Given the description of an element on the screen output the (x, y) to click on. 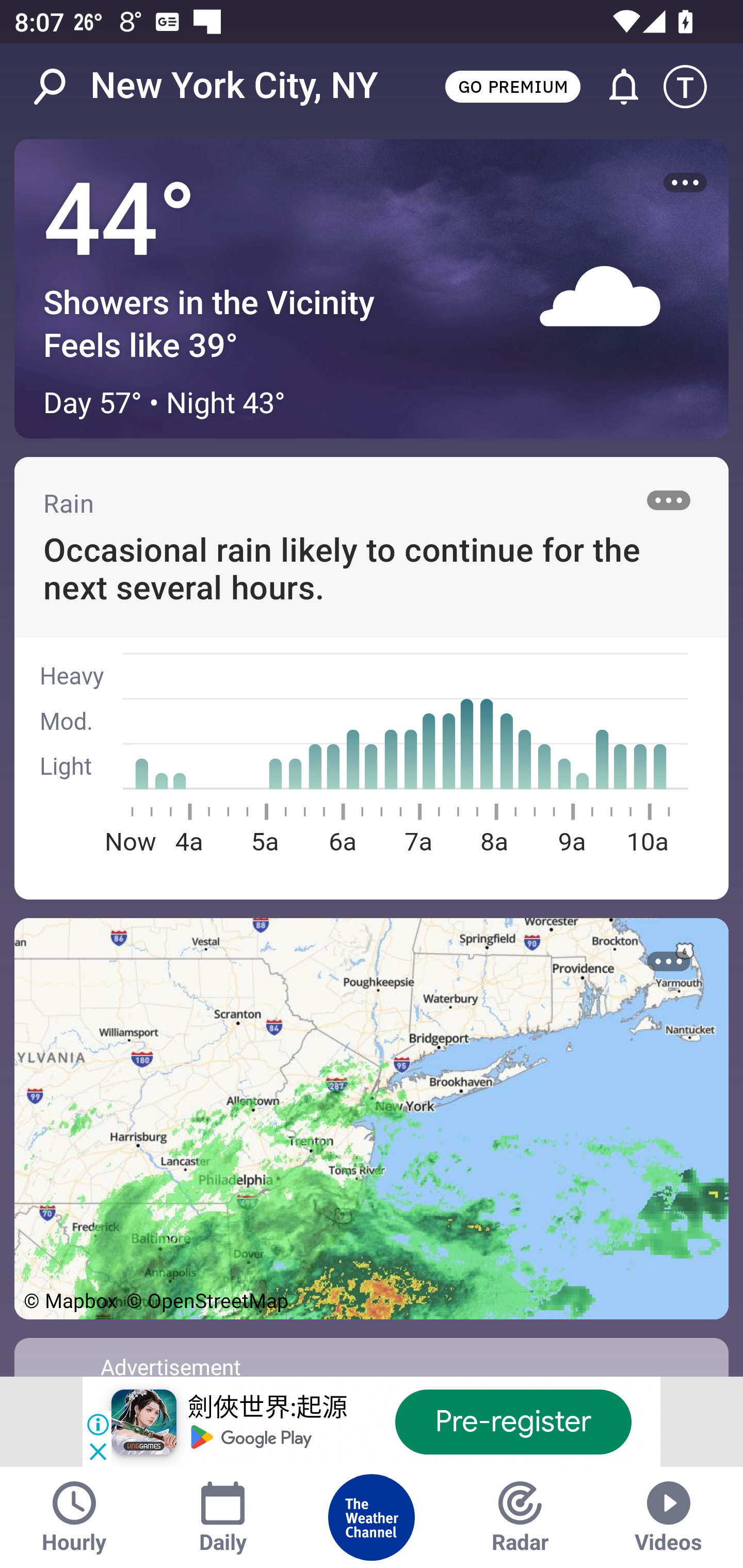
Search (59, 86)
Go to Alerts and Notifications (614, 86)
Setting icon T (694, 86)
New York City, NY (234, 85)
GO PREMIUM (512, 85)
More options (684, 182)
More options (668, 500)
See Map Details (371, 1118)
More options (668, 961)
劍俠世界:起源 Pre-register Pre-register (371, 1421)
Pre-register (513, 1421)
Hourly Tab Hourly (74, 1517)
Daily Tab Daily (222, 1517)
Radar Tab Radar (519, 1517)
Videos Tab Videos (668, 1517)
